Given the description of an element on the screen output the (x, y) to click on. 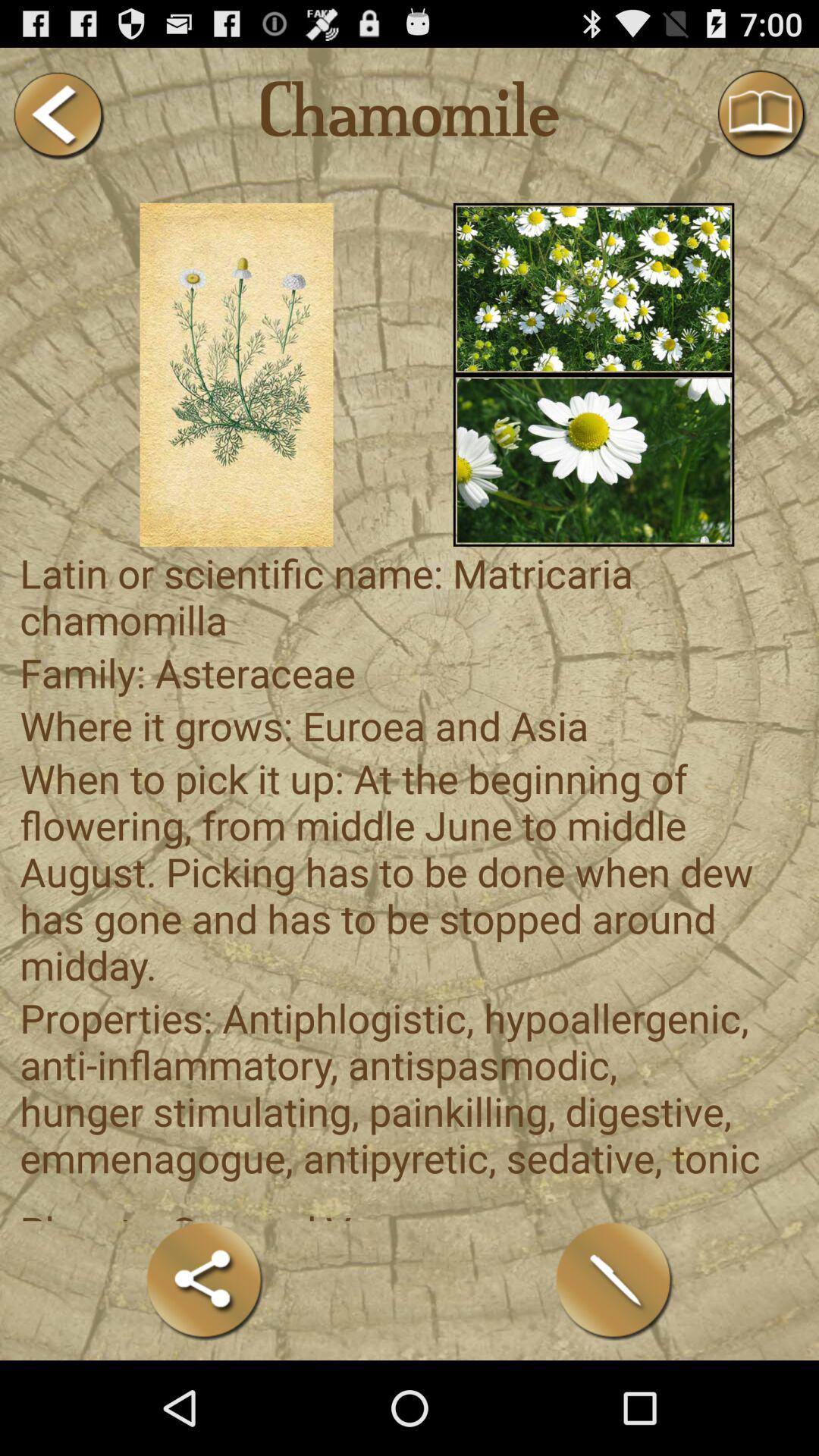
edit content (614, 1280)
